Given the description of an element on the screen output the (x, y) to click on. 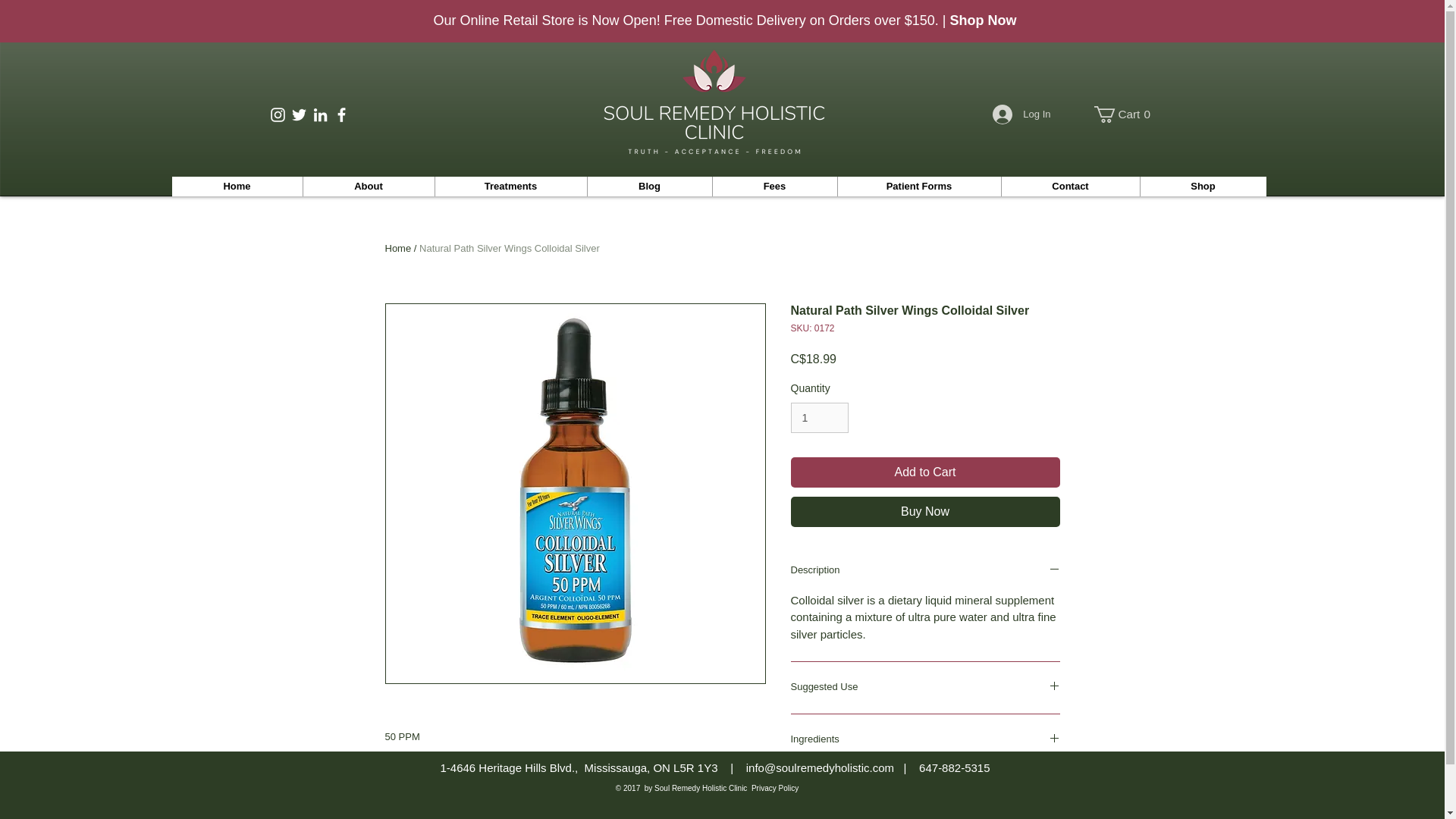
Home (236, 186)
Suggested Use (924, 687)
Add to Cart (924, 472)
Patient Forms (919, 186)
Ingredients (924, 739)
Home (398, 247)
About (367, 186)
Shop Now (982, 20)
Fees (773, 186)
Description (924, 570)
Buy Now (924, 511)
Contact (1070, 186)
Natural Path Silver Wings Colloidal Silver (1124, 114)
Privacy Policy (509, 247)
